Given the description of an element on the screen output the (x, y) to click on. 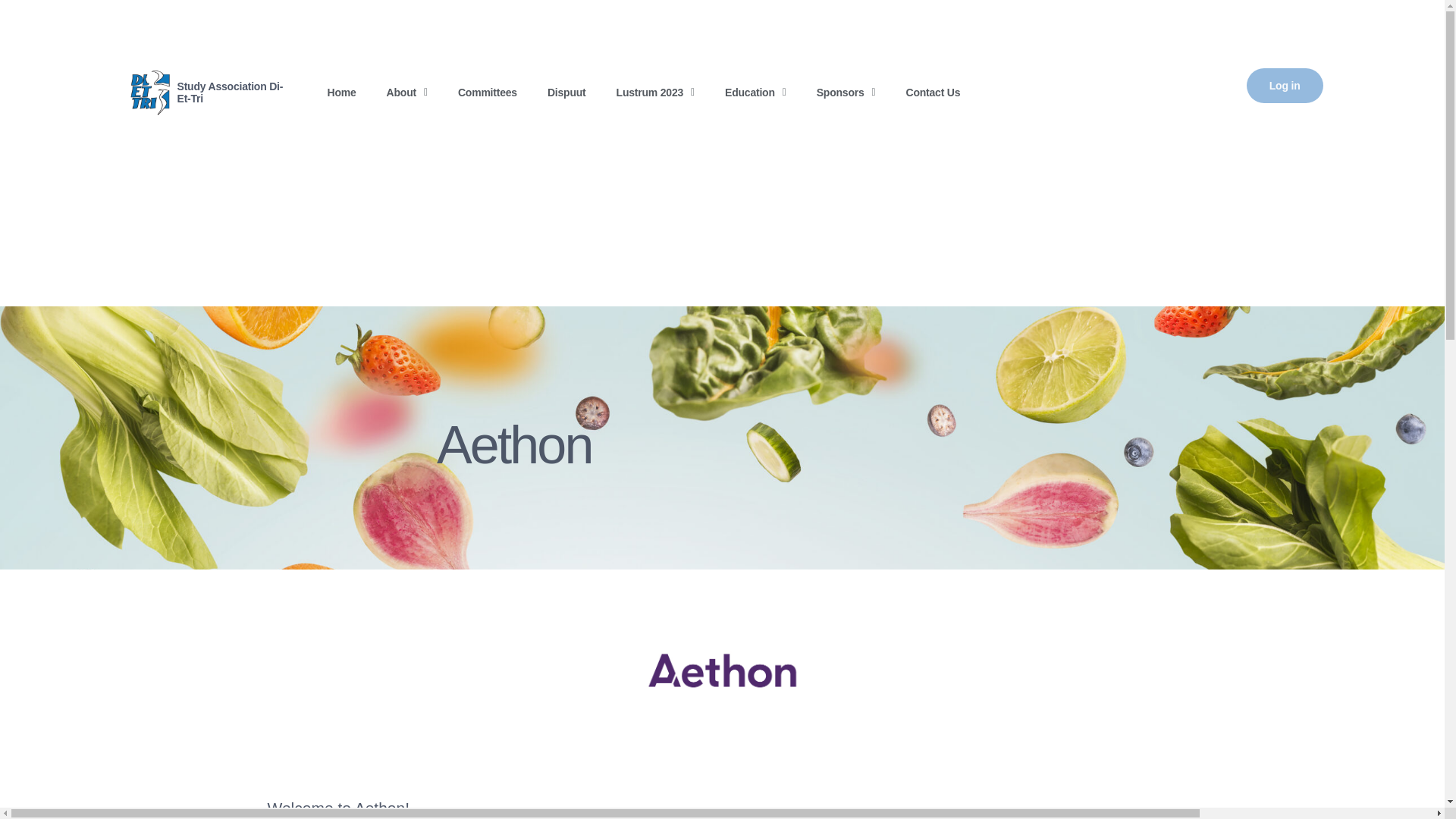
Contact Us (932, 92)
Dispuut (566, 92)
Committees (487, 92)
Home (342, 92)
Sponsors (846, 92)
Lustrum 2023 (655, 92)
About (406, 92)
Education (756, 92)
